Given the description of an element on the screen output the (x, y) to click on. 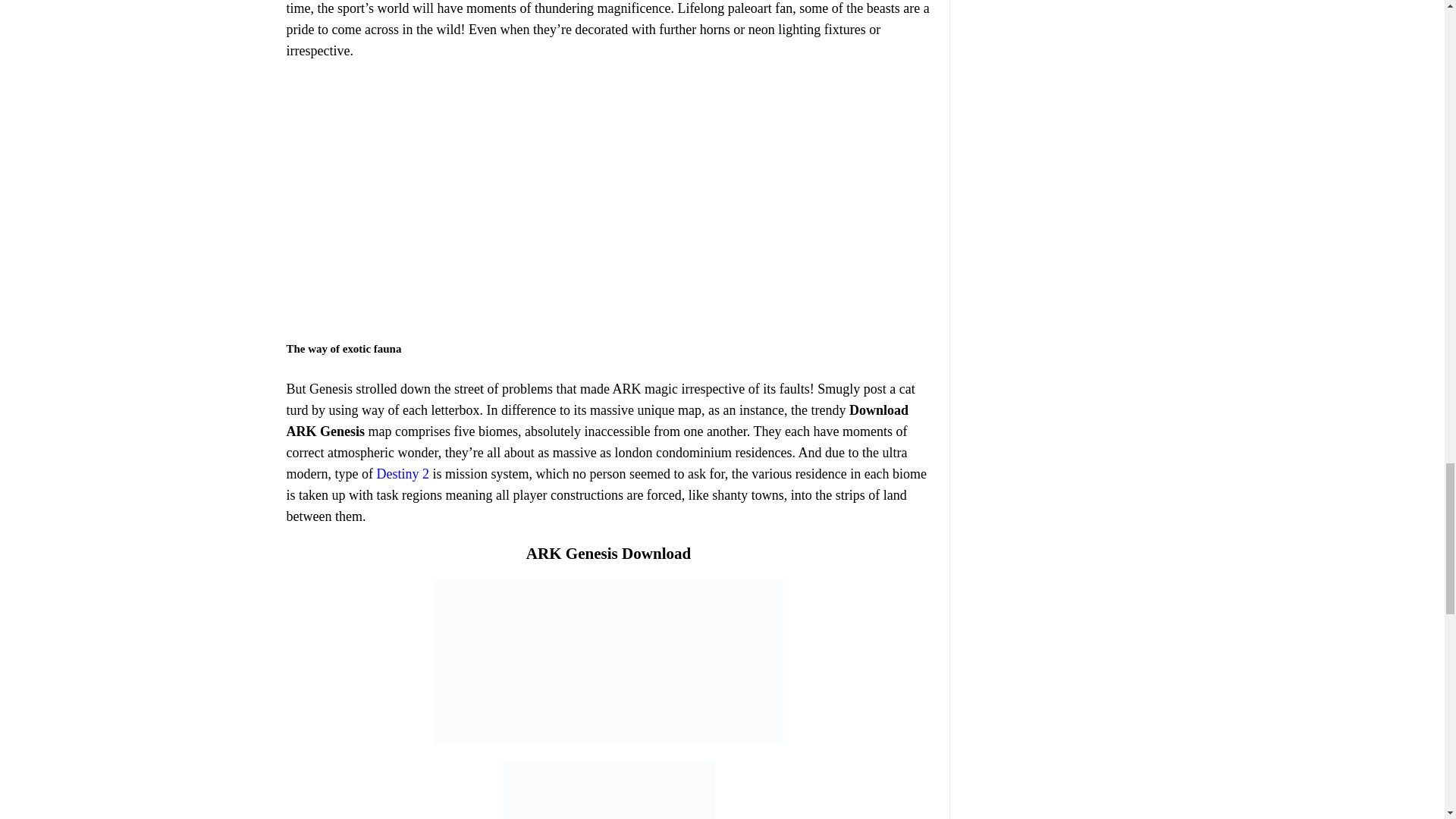
Destiny 2 (402, 473)
